Given the description of an element on the screen output the (x, y) to click on. 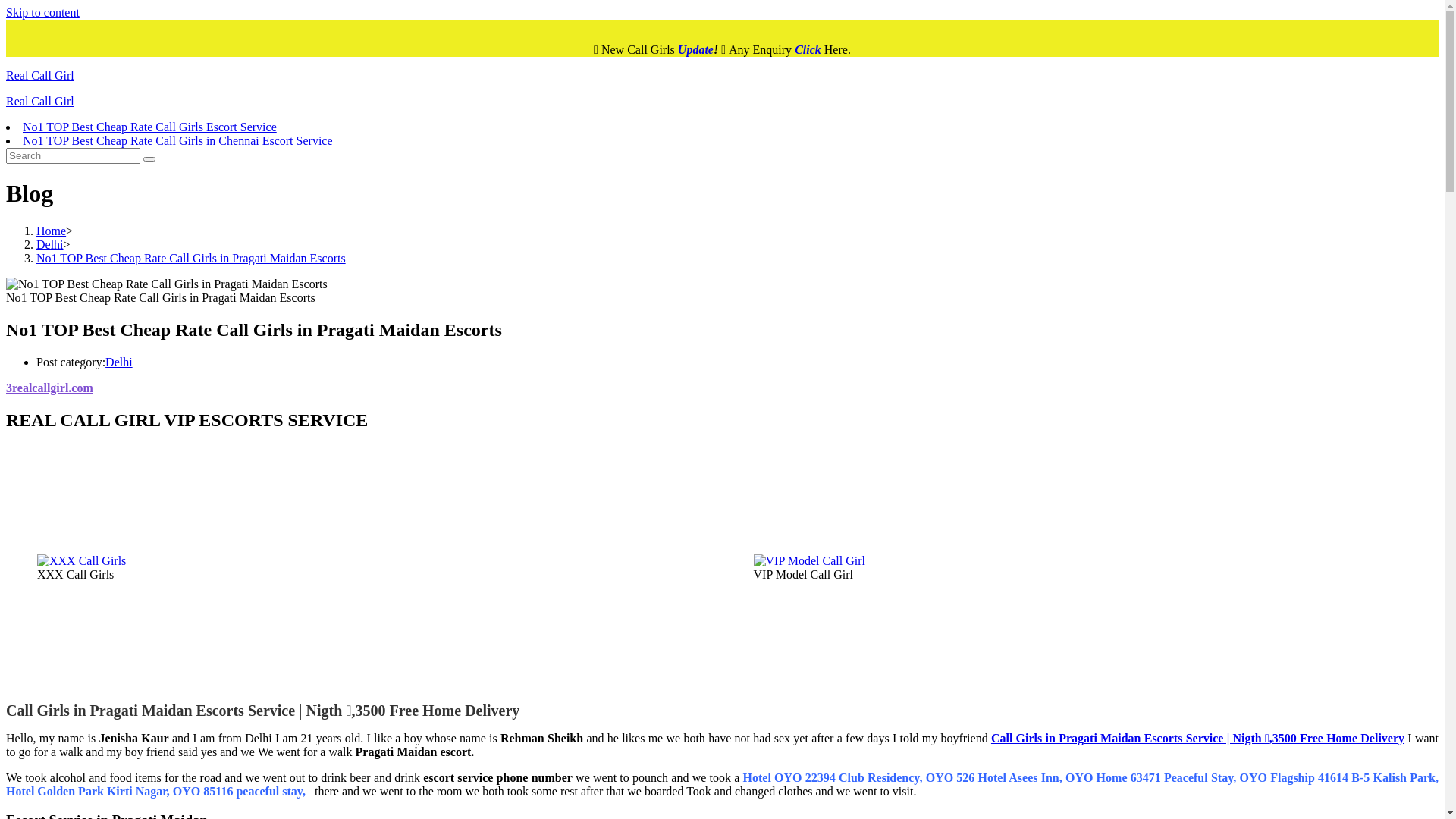
Click Element type: text (807, 49)
Delhi Element type: text (118, 361)
No1 TOP Best Cheap Rate Call Girls Escort Service Element type: text (149, 126)
Skip to content Element type: text (42, 12)
Real Call Girl Element type: text (40, 75)
No1 TOP Best Cheap Rate Call Girls in Chennai Escort Service Element type: text (177, 140)
Delhi Element type: text (49, 244)
Home Element type: text (50, 230)
No1 TOP Best Cheap Rate Call Girls in Pragati Maidan Escorts Element type: text (190, 257)
Real Call Girl Element type: text (40, 100)
Update Element type: text (695, 49)
3realcallgirl.com Element type: text (49, 387)
